Given the description of an element on the screen output the (x, y) to click on. 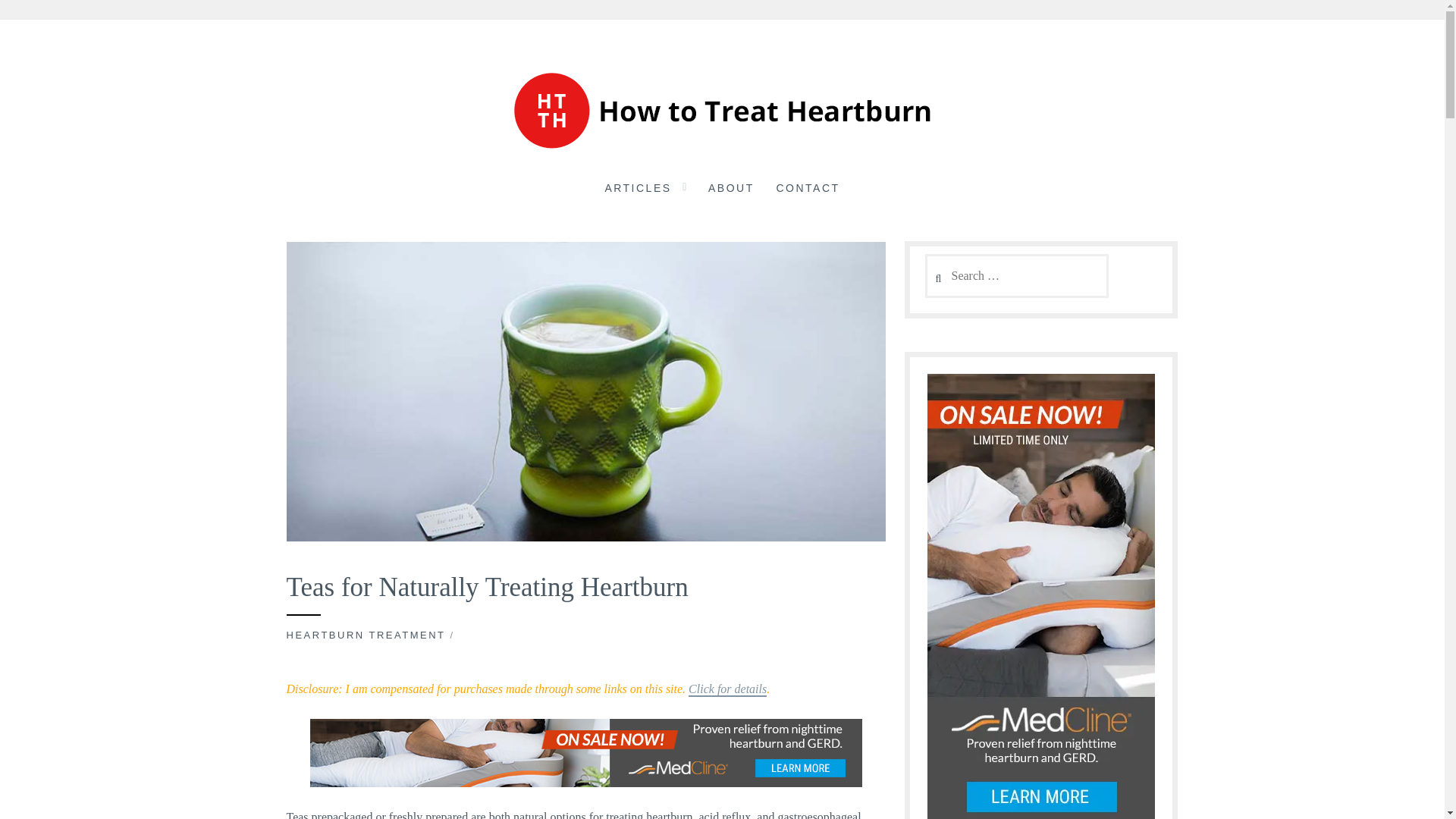
HEARTBURN TREATMENT (365, 634)
ABOUT (730, 189)
ARTICLES (637, 189)
CONTACT (808, 189)
How to Treat Heartburn (201, 180)
Click for details (727, 689)
